Given the description of an element on the screen output the (x, y) to click on. 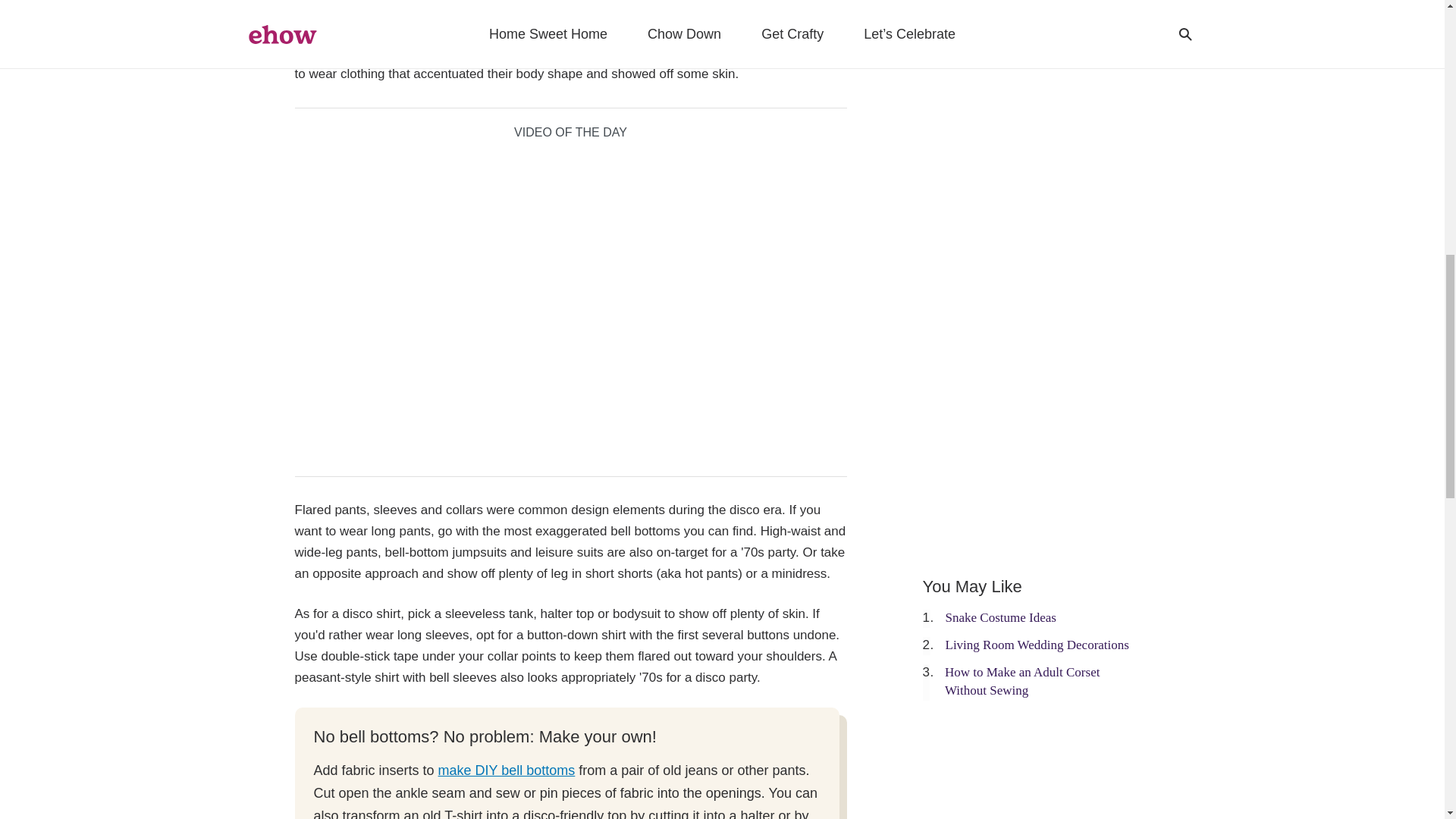
How to Make an Adult Corset Without Sewing (1021, 681)
Snake Costume Ideas (999, 617)
Living Room Wedding Decorations (1036, 644)
